Given the description of an element on the screen output the (x, y) to click on. 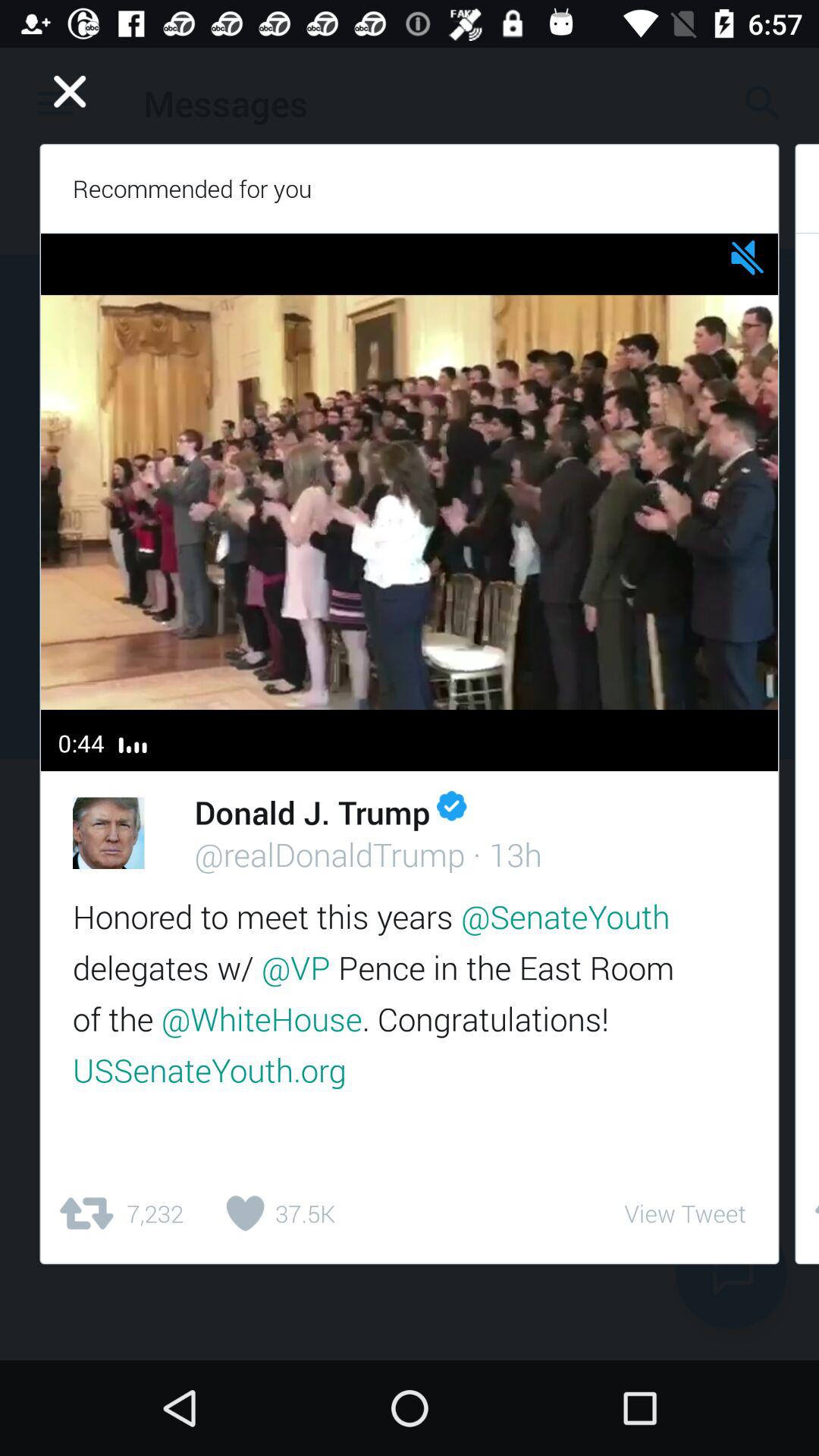
turn on the icon to the left of the 2,986 item (685, 1213)
